Given the description of an element on the screen output the (x, y) to click on. 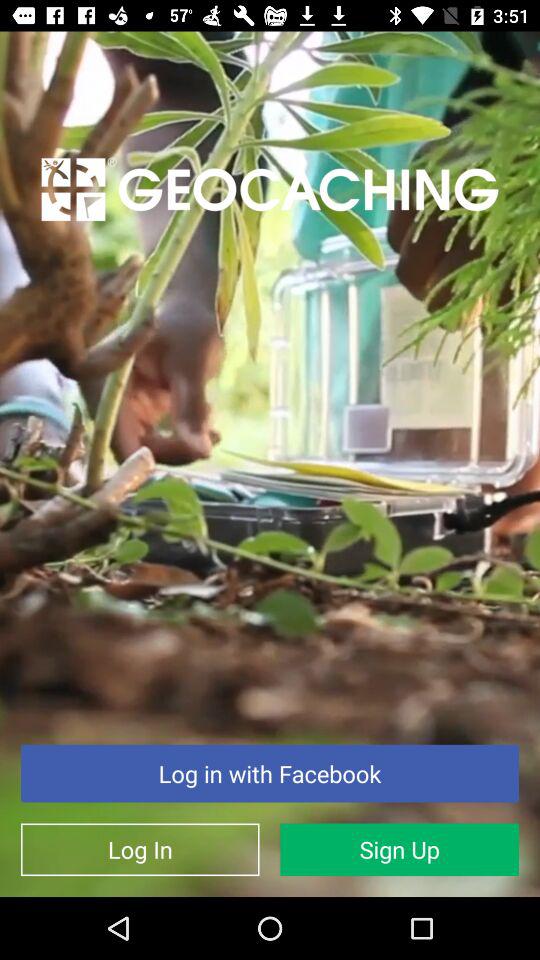
open the sign up at the bottom right corner (399, 849)
